Given the description of an element on the screen output the (x, y) to click on. 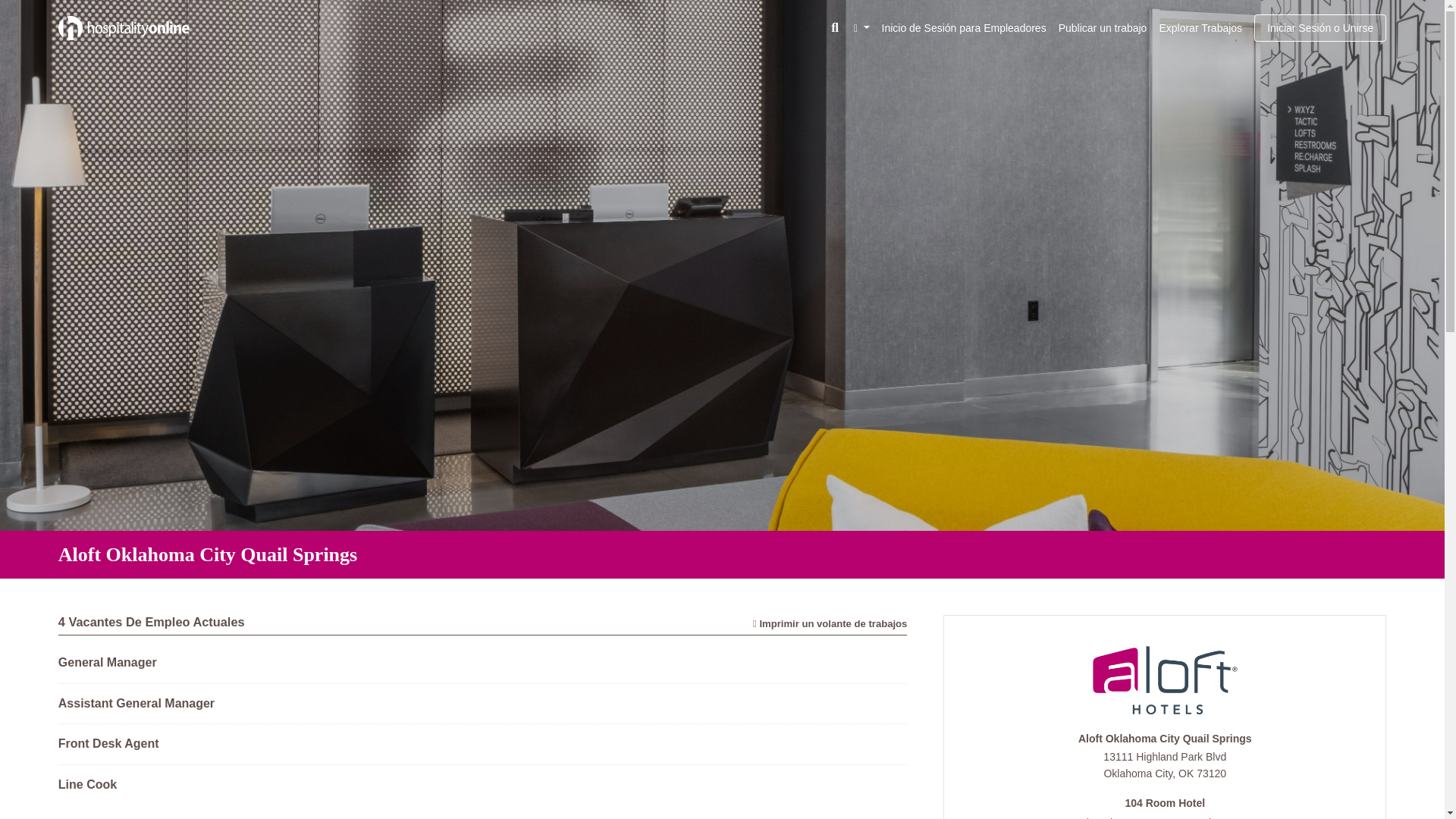
General Manager (107, 662)
Publicar un trabajo (1102, 30)
Line Cook (87, 784)
Aloft Oklahoma City Quail Springs (1164, 740)
Explorar Trabajos (1200, 30)
Oklahoma (1185, 773)
Assistant General Manager (136, 703)
Front Desk Agent (108, 743)
Imprimir un volante de trabajos (829, 623)
